Given the description of an element on the screen output the (x, y) to click on. 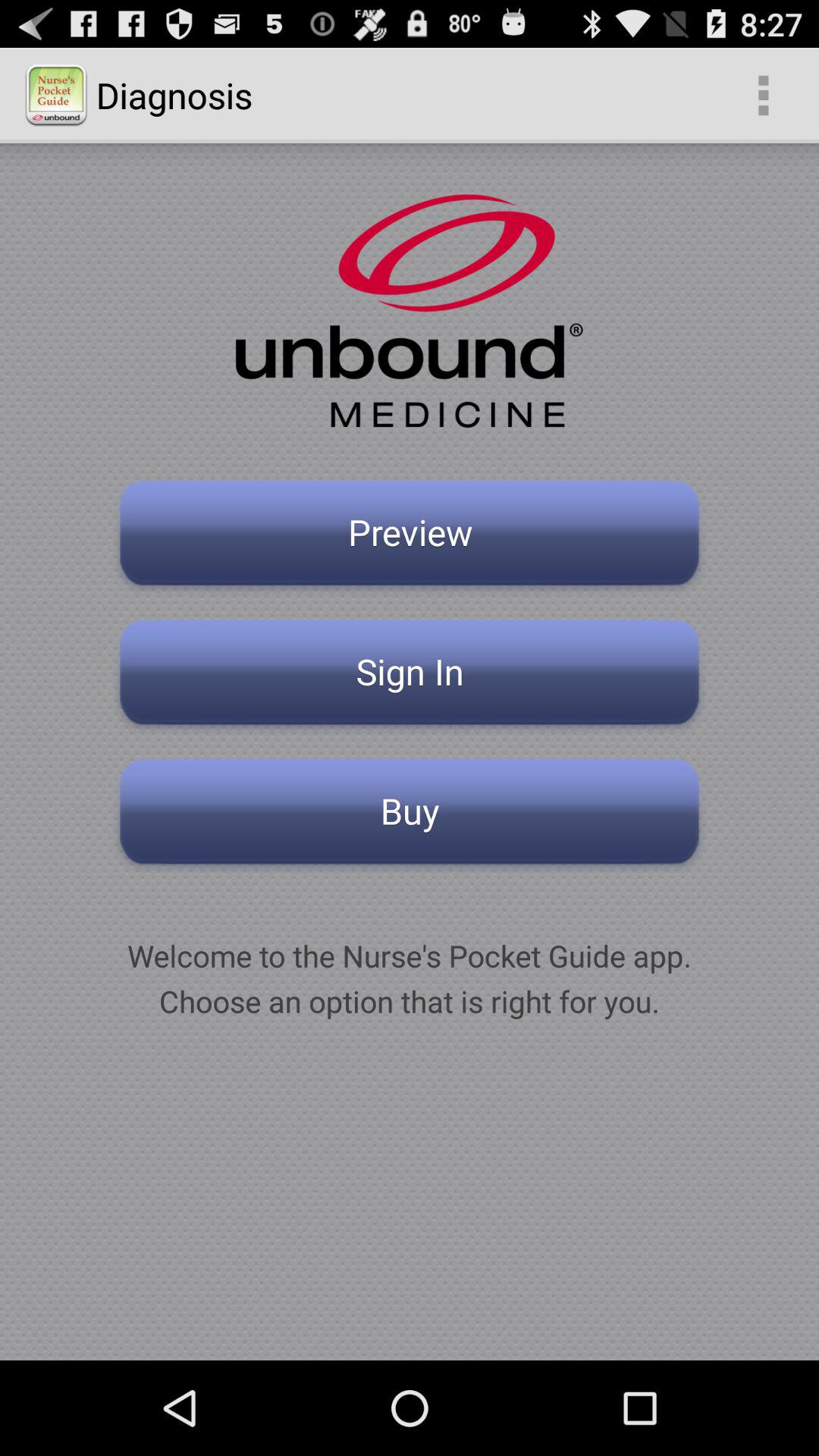
turn on item below preview button (409, 676)
